Given the description of an element on the screen output the (x, y) to click on. 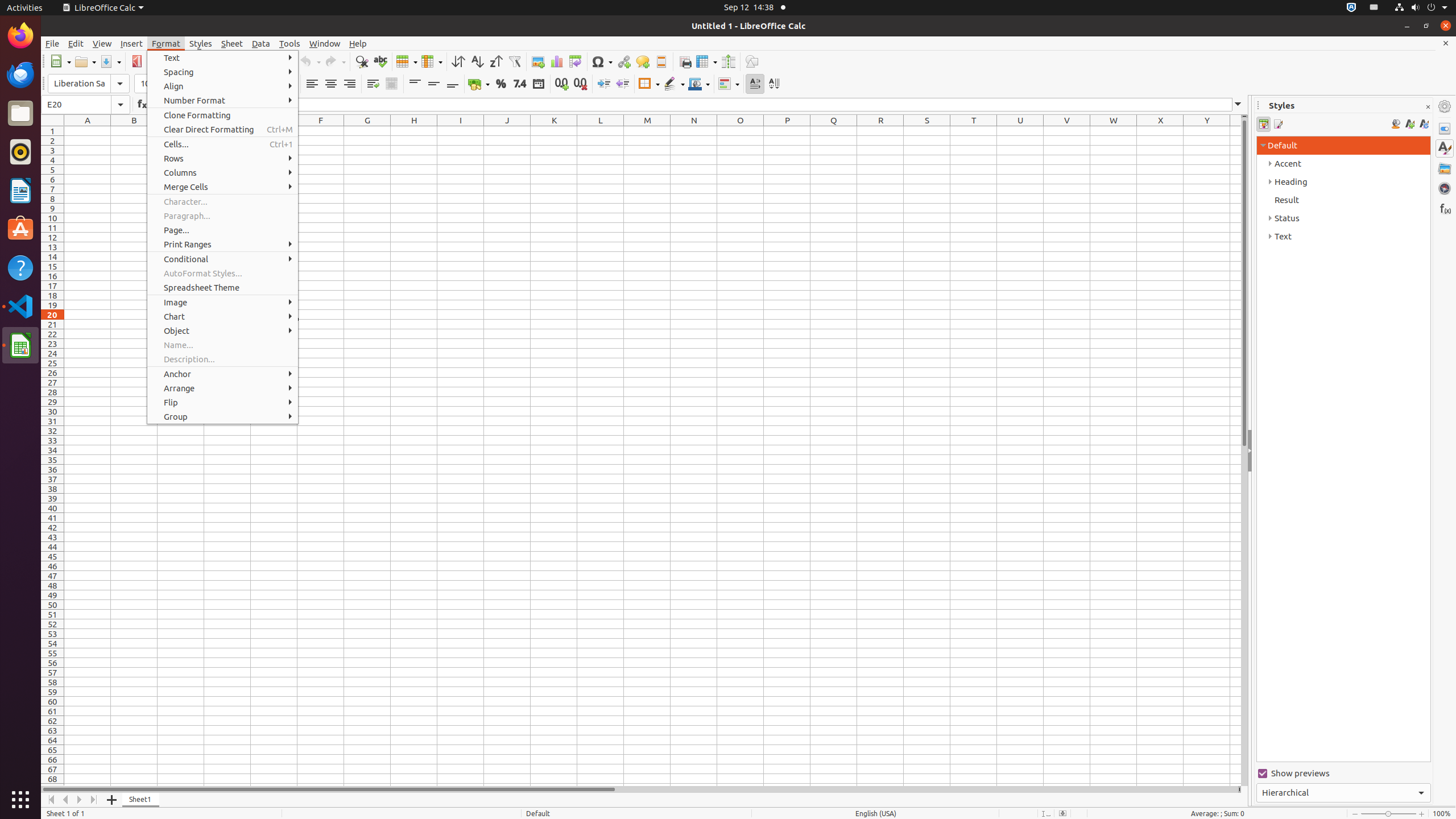
Image Element type: push-button (537, 61)
Data Element type: menu (260, 43)
Increase Element type: push-button (603, 83)
Update Style Element type: push-button (1423, 123)
Merge and Center Cells Element type: push-button (391, 83)
